Given the description of an element on the screen output the (x, y) to click on. 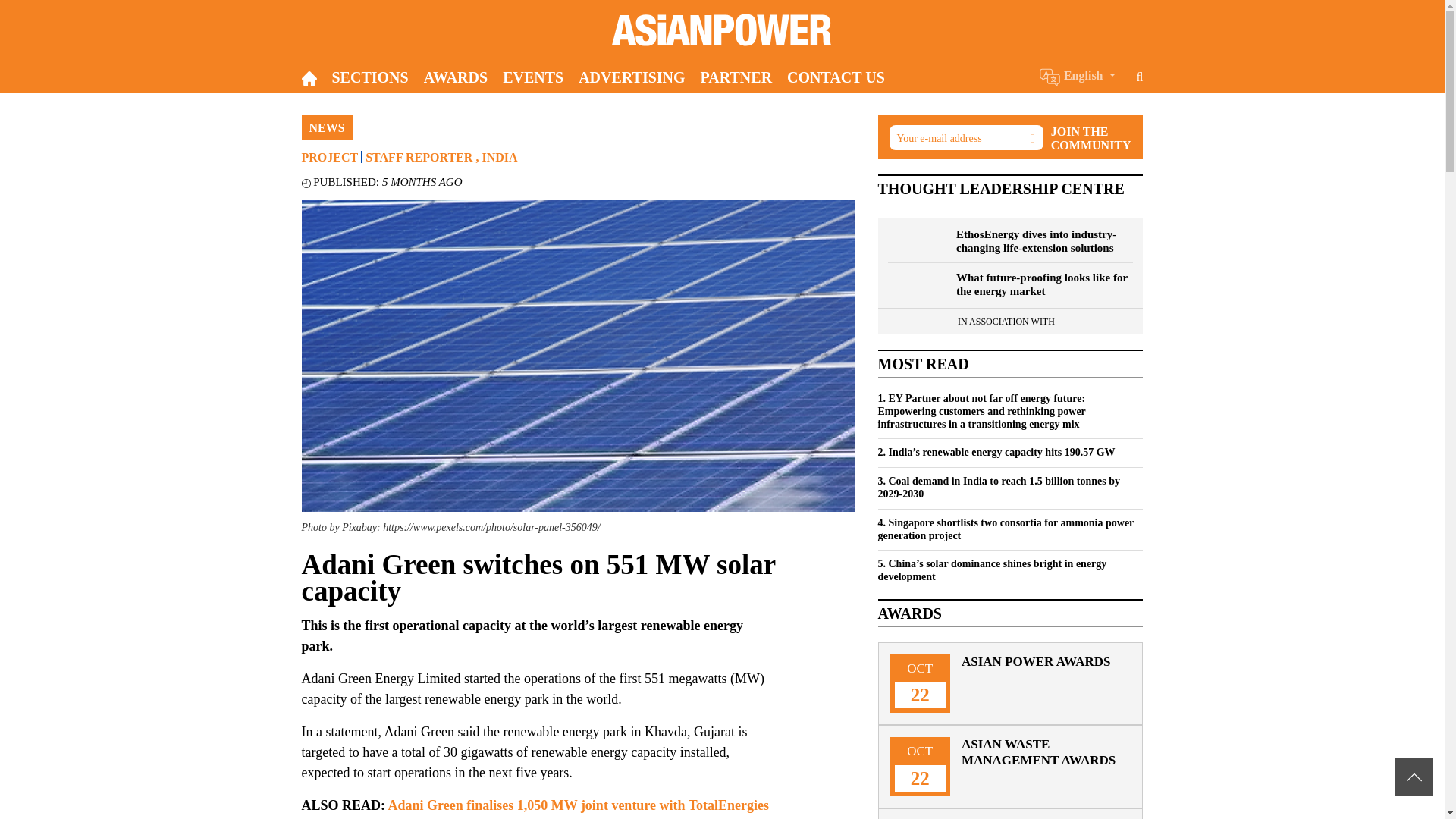
Please enter a valid email (965, 137)
